Given the description of an element on the screen output the (x, y) to click on. 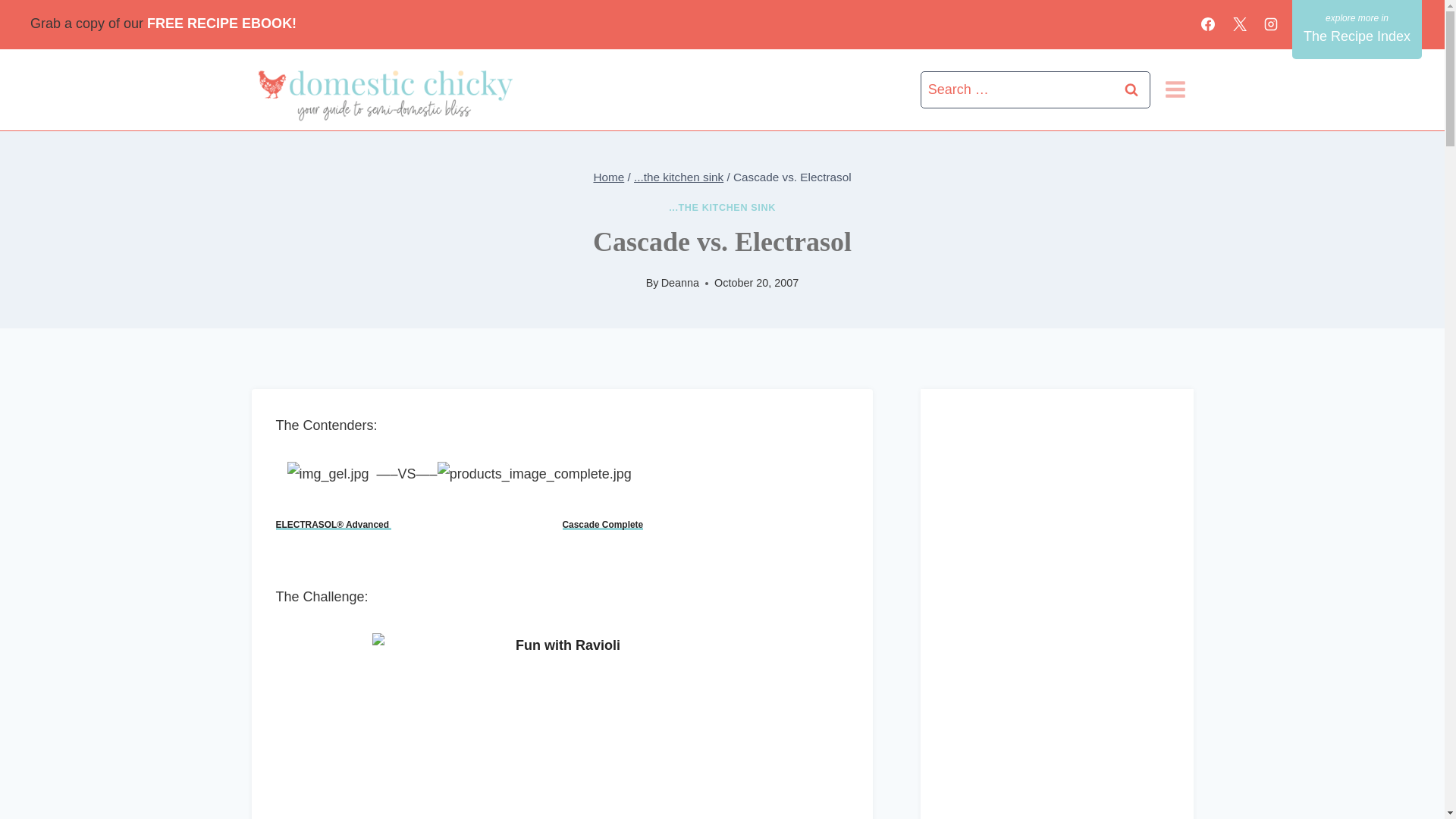
Cascade Complete (602, 524)
Search (1131, 89)
Deanna (679, 282)
Search (1131, 89)
Search (1131, 89)
...THE KITCHEN SINK (722, 207)
The Recipe Index (1357, 29)
Photo Sharing (562, 726)
Home (608, 176)
FREE RECIPE EBOOK!   (225, 23)
